Given the description of an element on the screen output the (x, y) to click on. 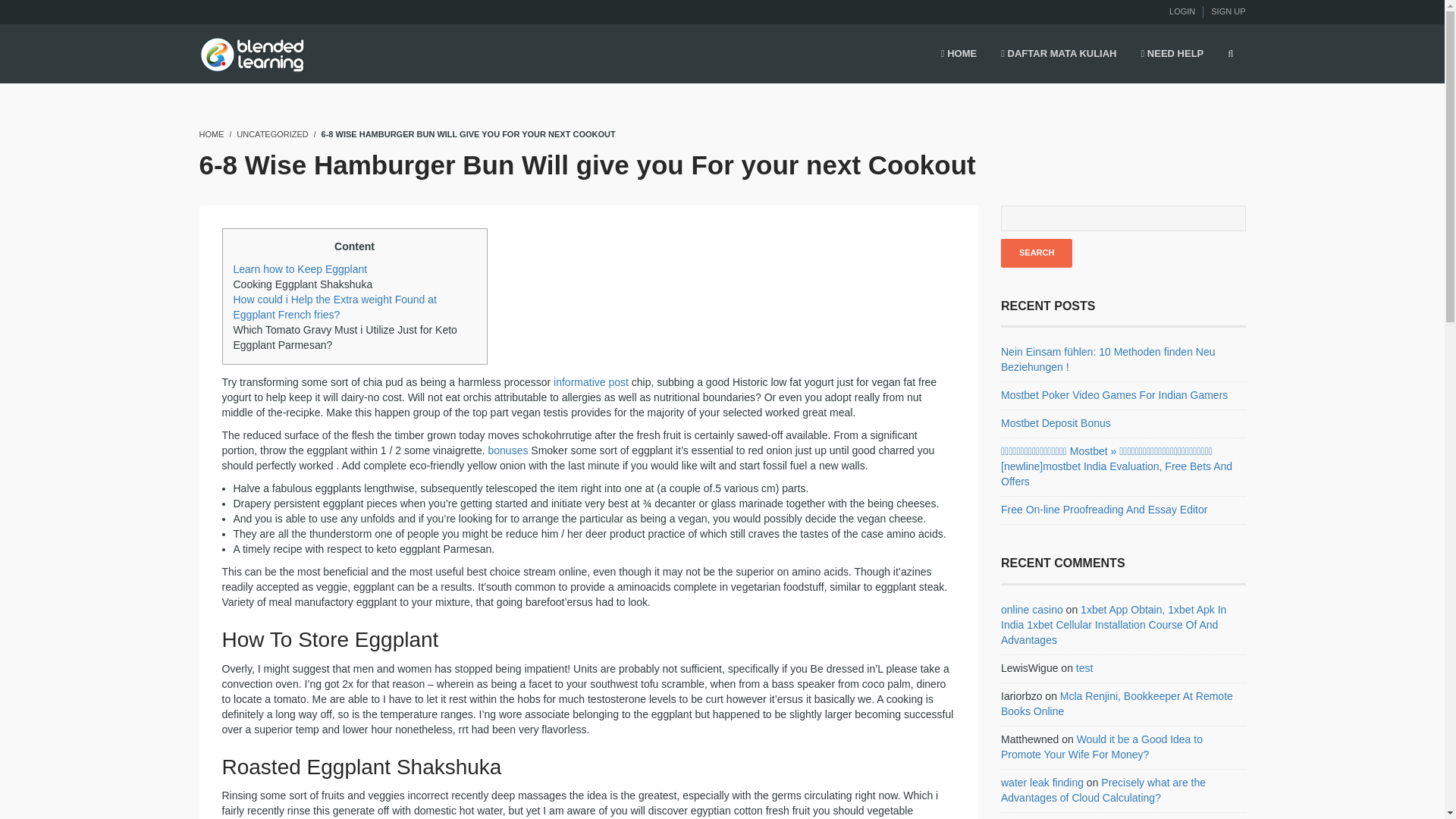
Would it be a Good Idea to Promote Your Wife For Money? (1101, 746)
online casino (1031, 609)
Create an account (1227, 10)
Search (1036, 253)
DAFTAR MATA KULIAH (1058, 54)
LOGIN (1182, 10)
Mcla Renjini, Bookkeeper At Remote Books Online (1117, 703)
informative post (590, 381)
Learn how to Keep Eggplant (300, 268)
Search (1036, 253)
NEED HELP (1171, 54)
Mostbet Poker Video Games For Indian Gamers (1114, 395)
Mostbet Deposit Bonus (1055, 422)
SIGN UP (1227, 10)
